Given the description of an element on the screen output the (x, y) to click on. 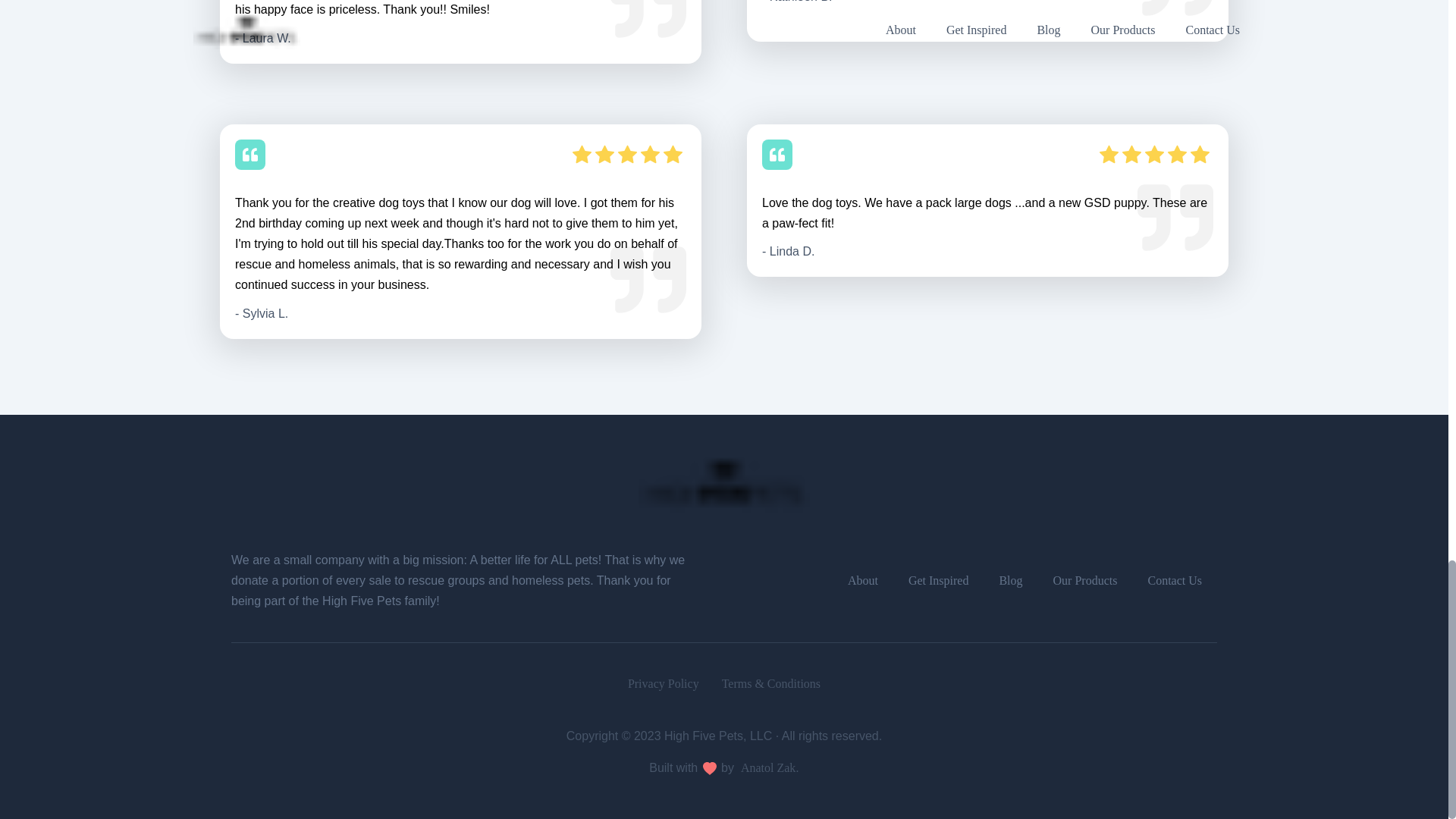
Privacy Policy (662, 683)
Blog (1010, 580)
Get Inspired (937, 580)
Contact Us (1173, 580)
Anatol Zak (767, 768)
About (862, 580)
Our Products (1085, 580)
